Given the description of an element on the screen output the (x, y) to click on. 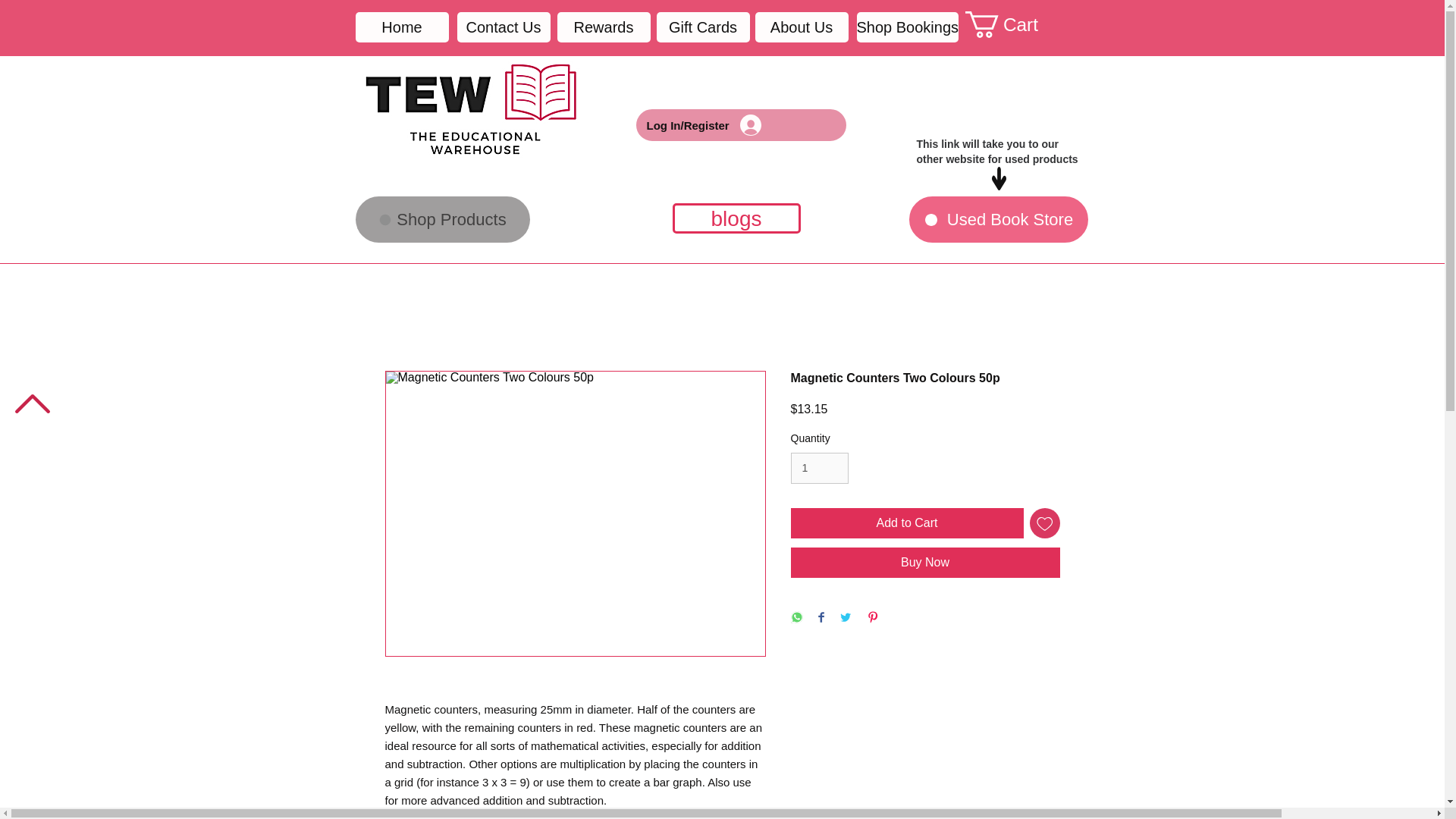
Cart (1015, 24)
About Us (801, 27)
Contact Us (503, 27)
Shop Bookings (908, 27)
Home (401, 27)
Shop Products (442, 219)
Gift Cards (702, 27)
Cart (1015, 24)
Rewards (602, 27)
1 (818, 468)
